Given the description of an element on the screen output the (x, y) to click on. 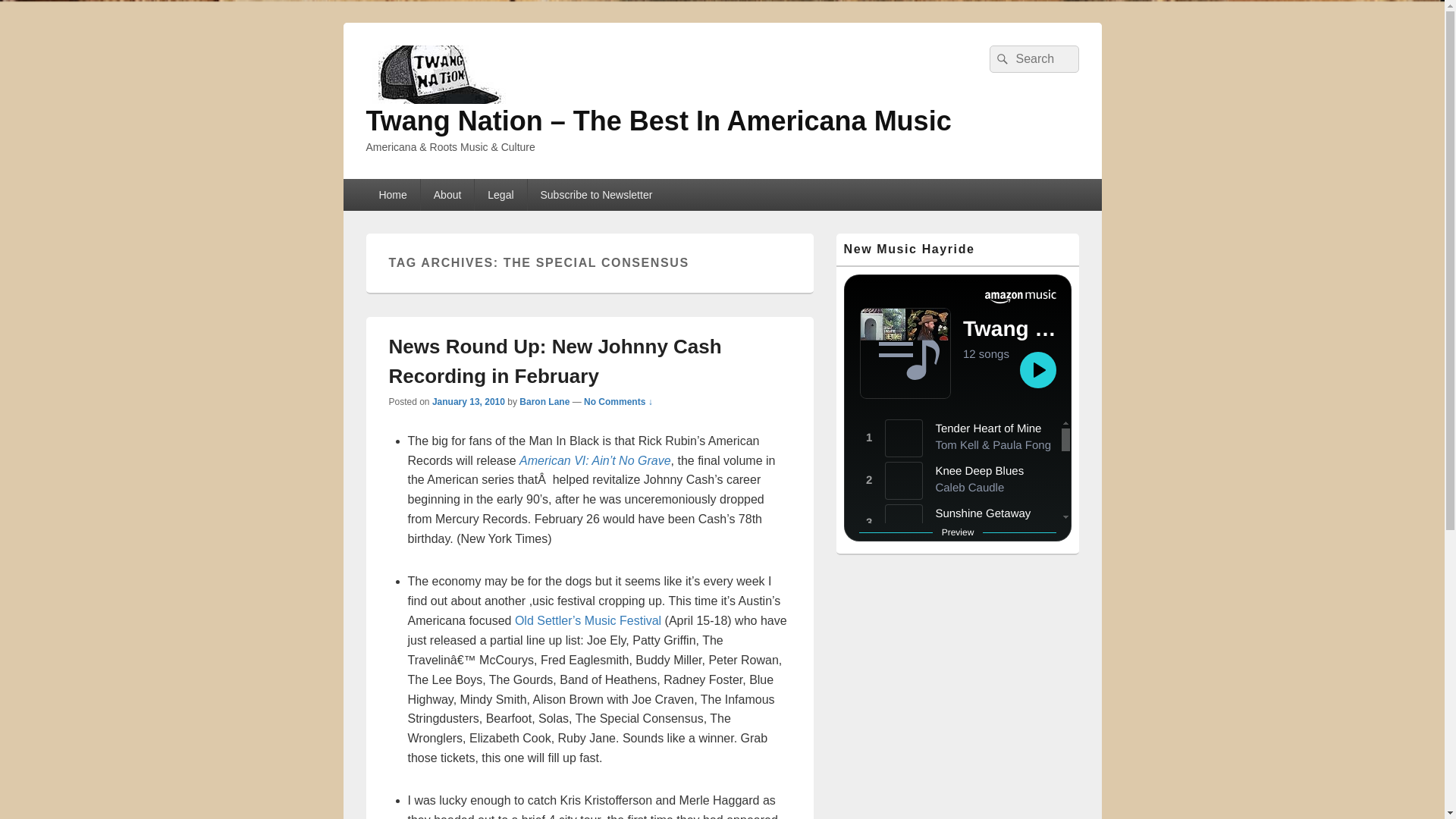
News Round Up: New Johnny Cash Recording in February (554, 360)
Subscribe to Newsletter (596, 194)
January 13, 2010 (468, 401)
About (447, 194)
Search for: (1033, 58)
View all posts by Baron Lane (544, 401)
12:19 pm (468, 401)
Home (392, 194)
Legal (499, 194)
